Given the description of an element on the screen output the (x, y) to click on. 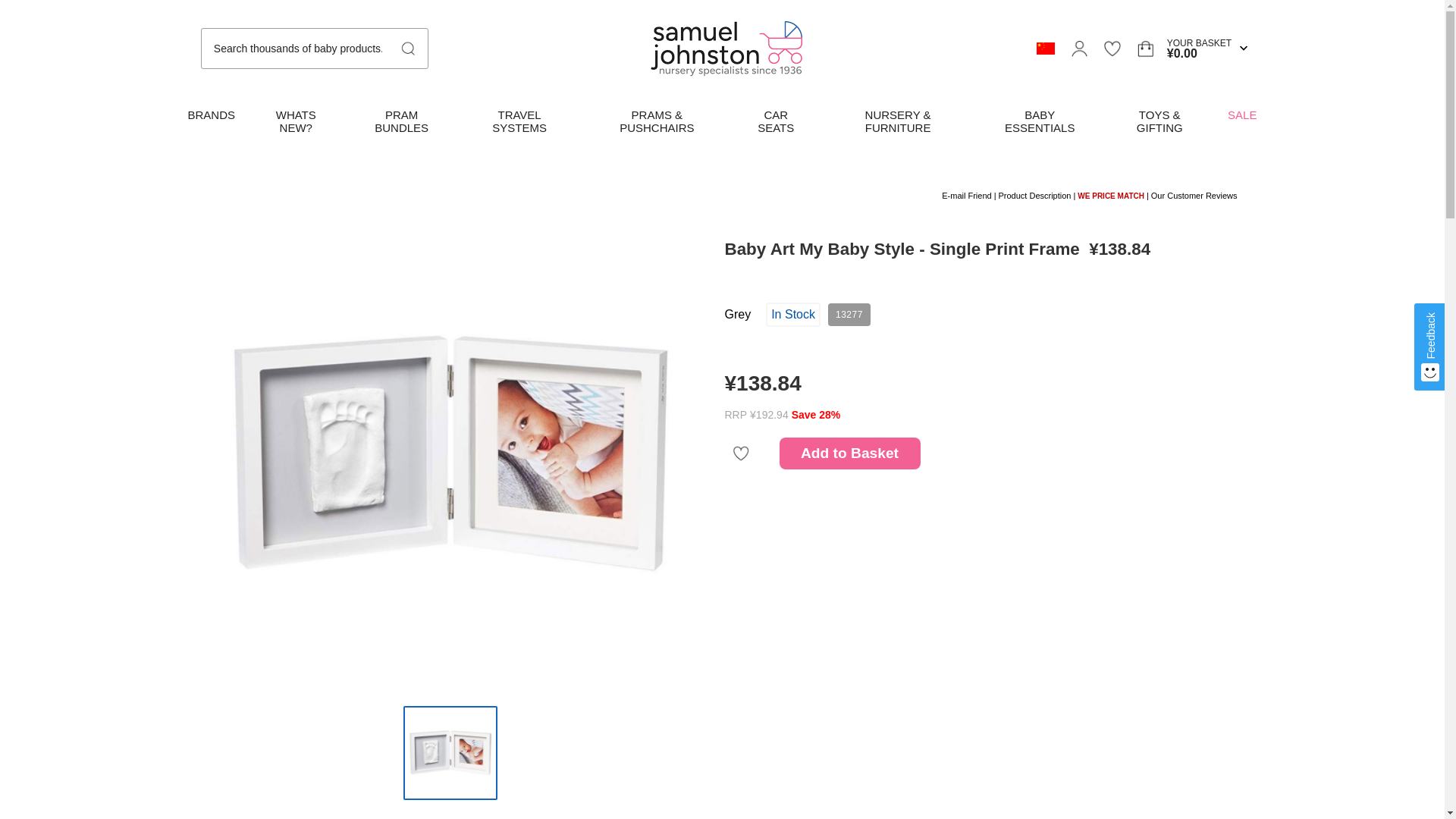
Wishlist (1112, 48)
PRAM BUNDLES (402, 121)
Click Here to View our Top Brands (211, 114)
BRANDS (211, 114)
Account login (1078, 48)
Country Settings (1045, 48)
WHATS NEW? (296, 121)
